Given the description of an element on the screen output the (x, y) to click on. 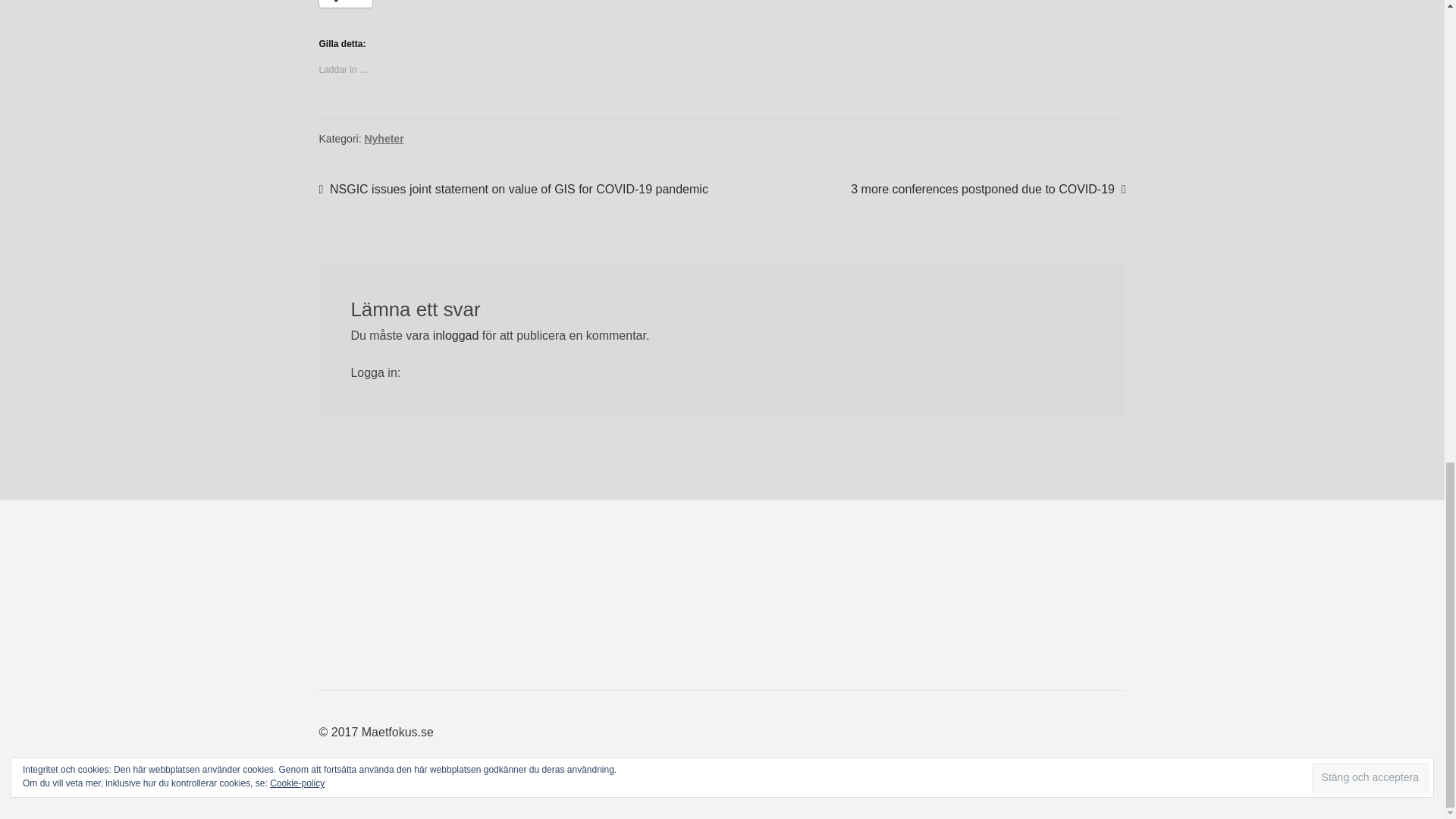
Nyheter (383, 138)
Dela (345, 3)
inloggad (455, 335)
